Given the description of an element on the screen output the (x, y) to click on. 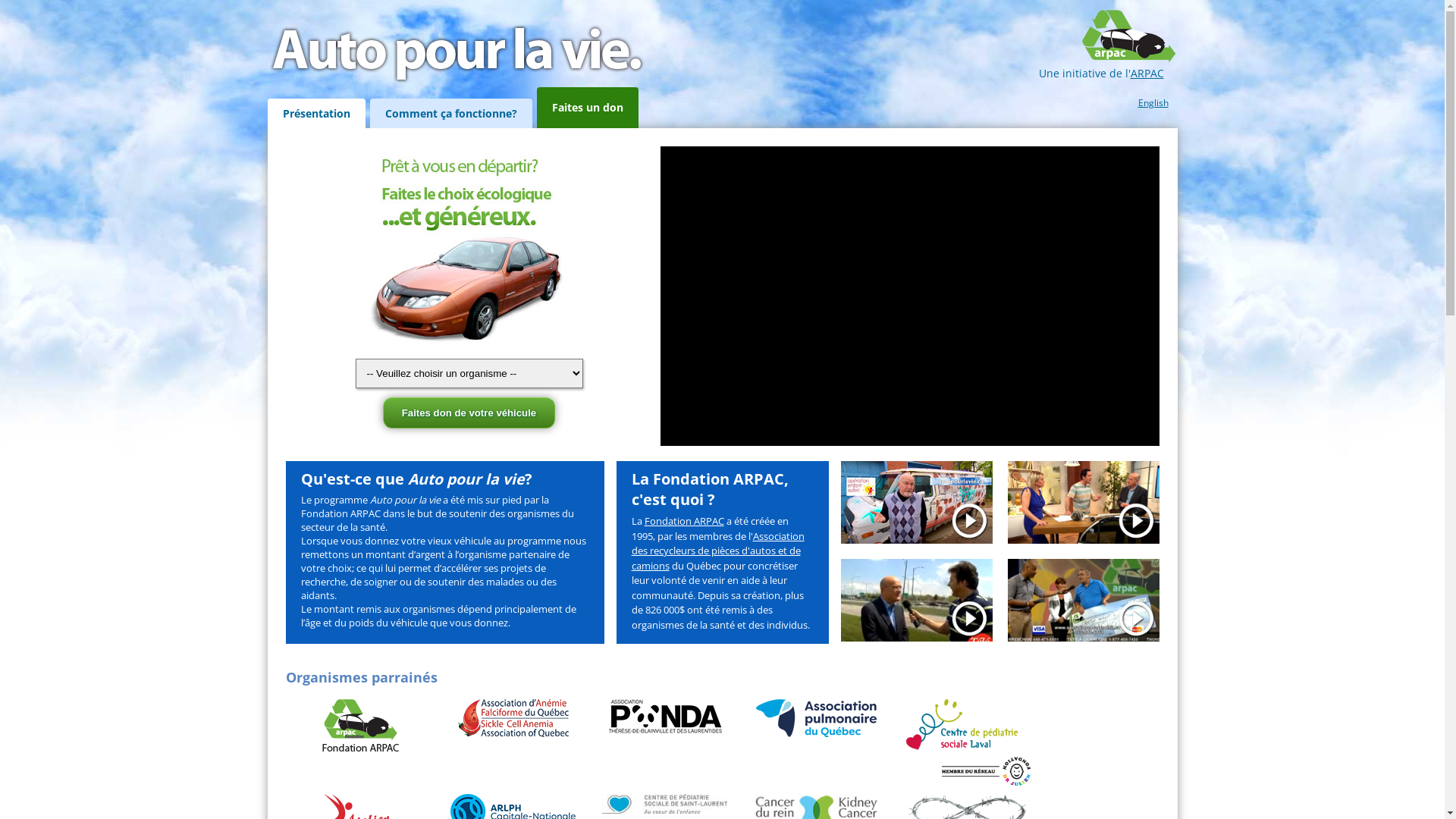
Faites un don Element type: text (587, 107)
English Element type: text (1156, 98)
Fondation ARPAC Element type: text (684, 520)
ARPAC Element type: text (1146, 72)
